Given the description of an element on the screen output the (x, y) to click on. 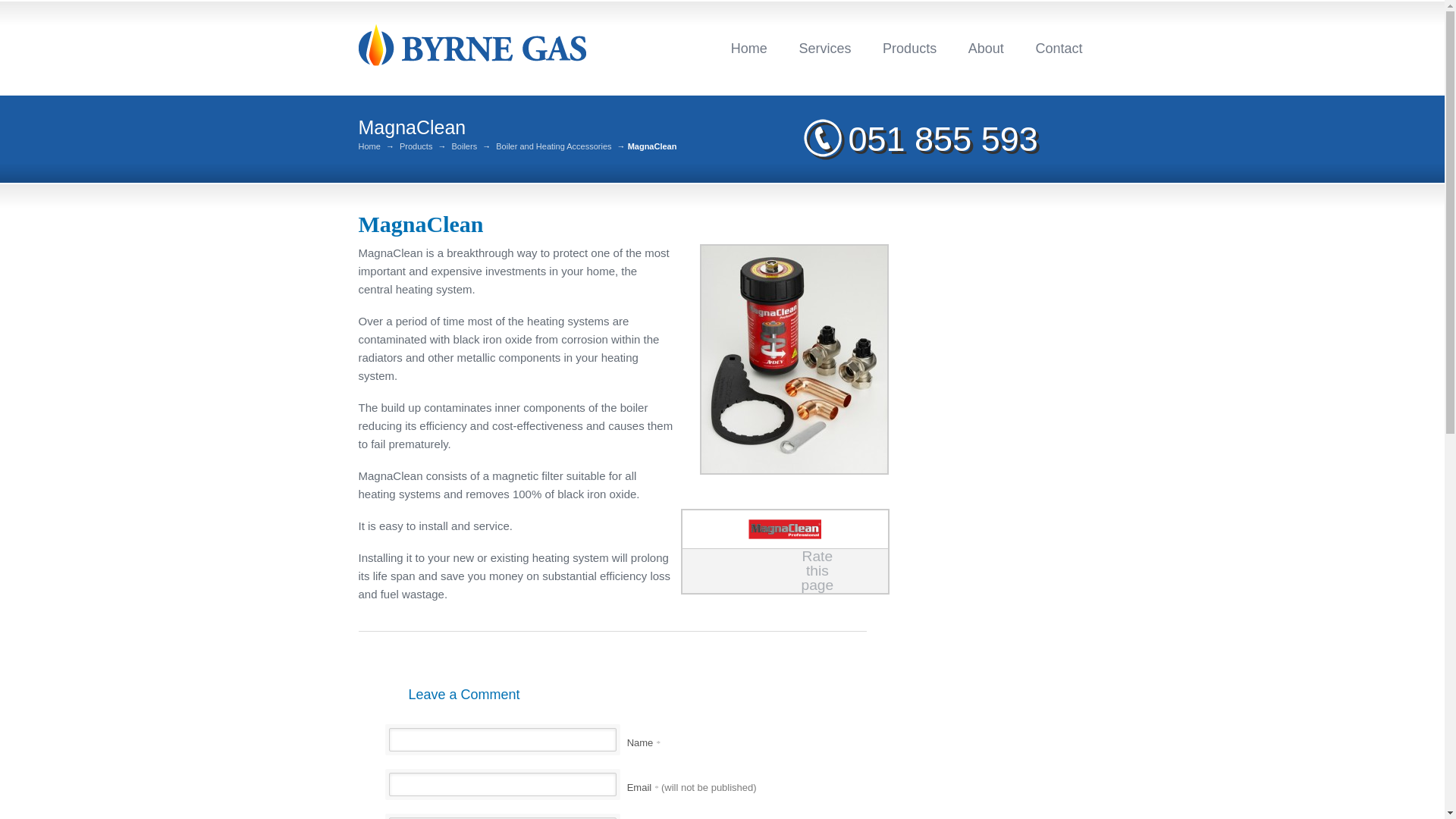
Products (415, 146)
051 855 593 (919, 138)
About (985, 48)
Products (909, 48)
Contact (1058, 48)
link to MagnaClean website (784, 528)
Boiler and Heating Accessories (553, 146)
Home (748, 48)
Boilers (464, 146)
Services (824, 48)
Home (369, 146)
